Given the description of an element on the screen output the (x, y) to click on. 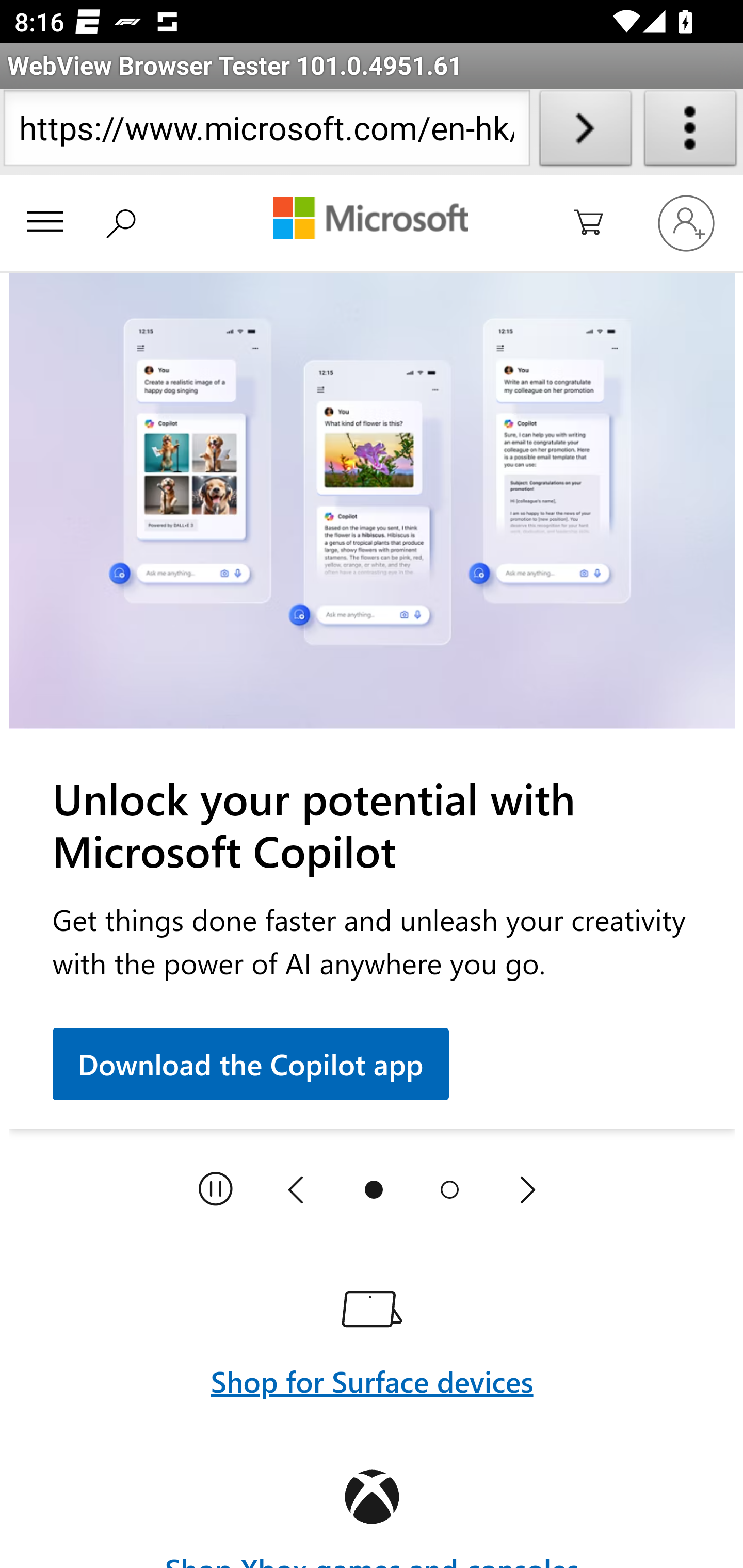
https://www.microsoft.com/en-hk/ (266, 132)
Load URL (585, 132)
About WebView (690, 132)
Microsoft (370, 219)
0 items in shopping cart  (600, 223)
Sign in to your account (686, 222)
Search Microsoft.com (124, 219)
Pause (216, 1189)
Previous  (296, 1189)
Next  (526, 1189)
Shop for Surface devices (371, 1338)
Shop for Surface devices (371, 1381)
Shop Xbox games and consoles (371, 1514)
